Given the description of an element on the screen output the (x, y) to click on. 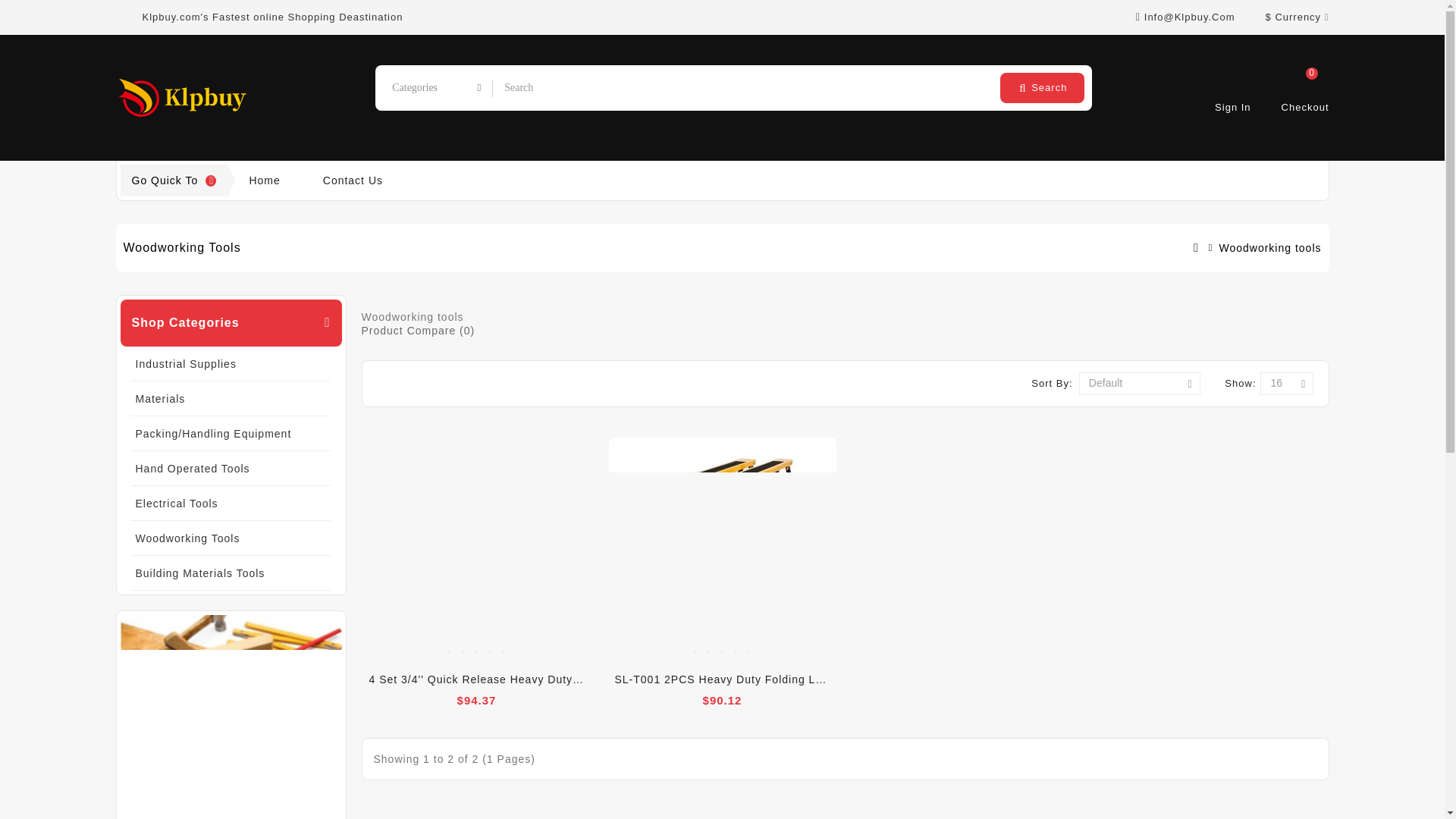
Woodworking Tools (229, 538)
home (263, 180)
Home (263, 180)
Industrial Supplies (229, 363)
Electrical Tools (229, 503)
Llpbuy.com (183, 97)
Contact Us (352, 180)
Materials (229, 398)
Hand Operated Tools (229, 468)
Building Materials Tools (1305, 78)
Add to Wish List (229, 573)
Search (820, 423)
Woodworking tools (1042, 87)
